Given the description of an element on the screen output the (x, y) to click on. 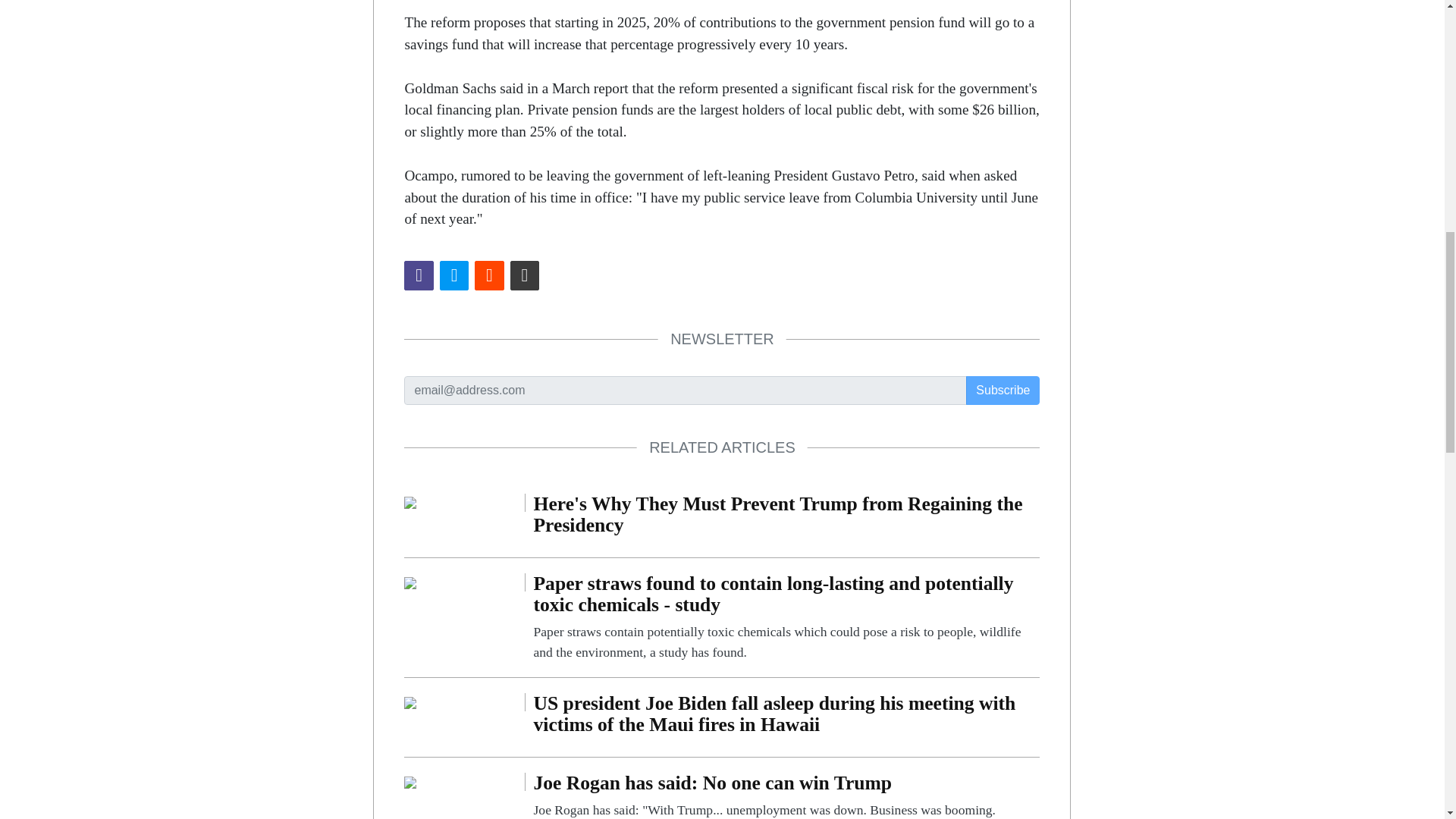
Subscribe (1002, 389)
Joe Rogan has said: No one can win Trump (410, 780)
Joe Rogan has said: No one can win Trump (785, 796)
